Given the description of an element on the screen output the (x, y) to click on. 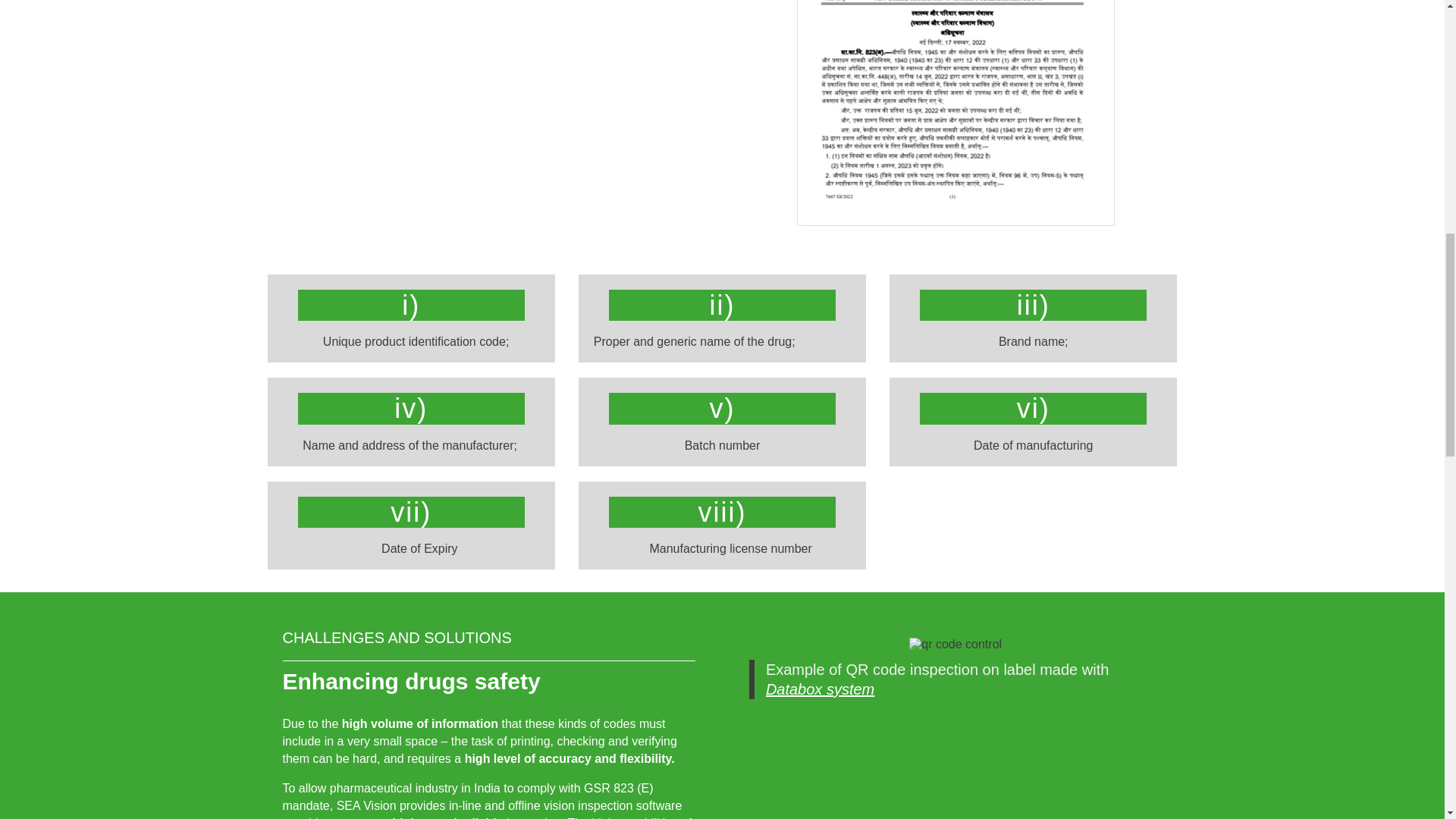
Databox system (820, 688)
gsre gazette (955, 113)
qr code control (954, 644)
